Given the description of an element on the screen output the (x, y) to click on. 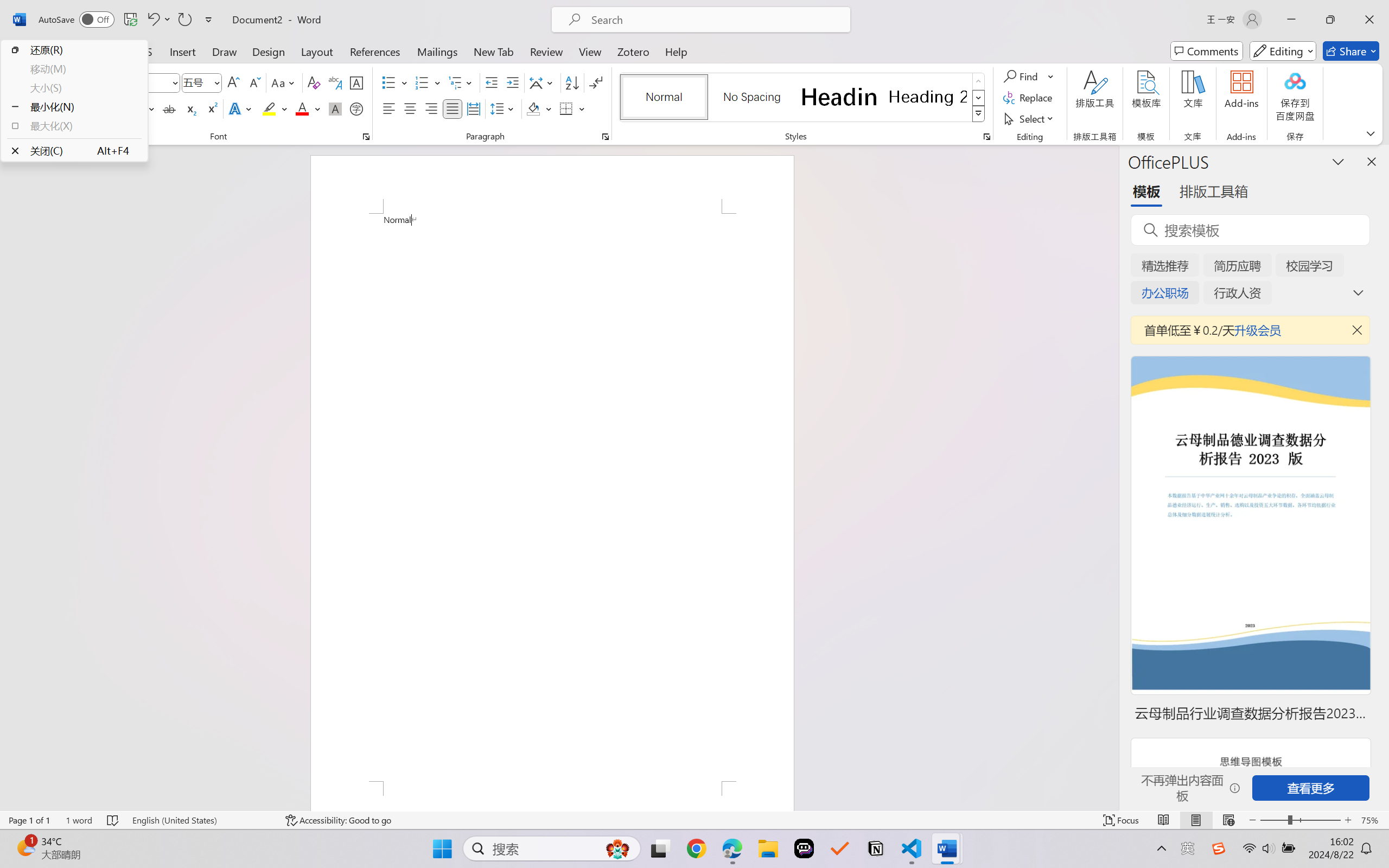
Replace... (1029, 97)
Text Highlight Color Yellow (269, 108)
Print Layout (1196, 819)
Character Shading (334, 108)
Numbering (421, 82)
Superscript (210, 108)
Change Case (284, 82)
Class: NetUIImage (978, 114)
Sort... (571, 82)
